Given the description of an element on the screen output the (x, y) to click on. 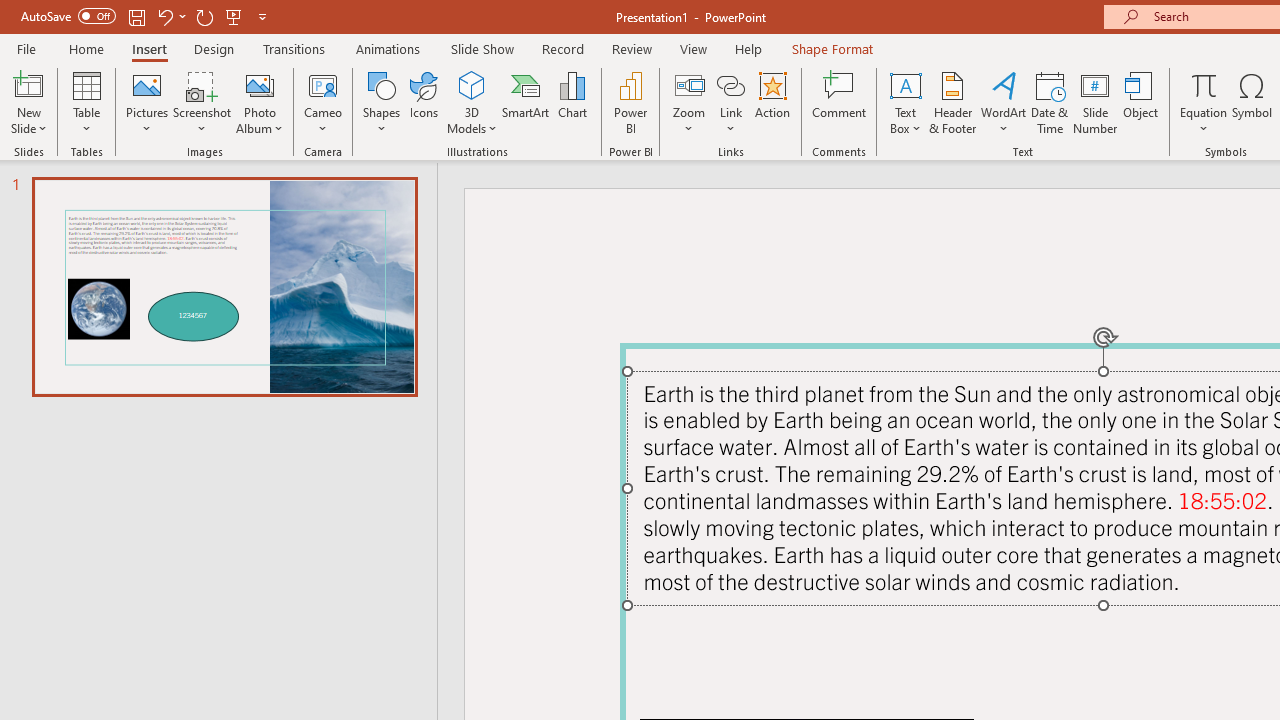
Photo Album... (259, 102)
Symbol... (1252, 102)
Action (772, 102)
